Given the description of an element on the screen output the (x, y) to click on. 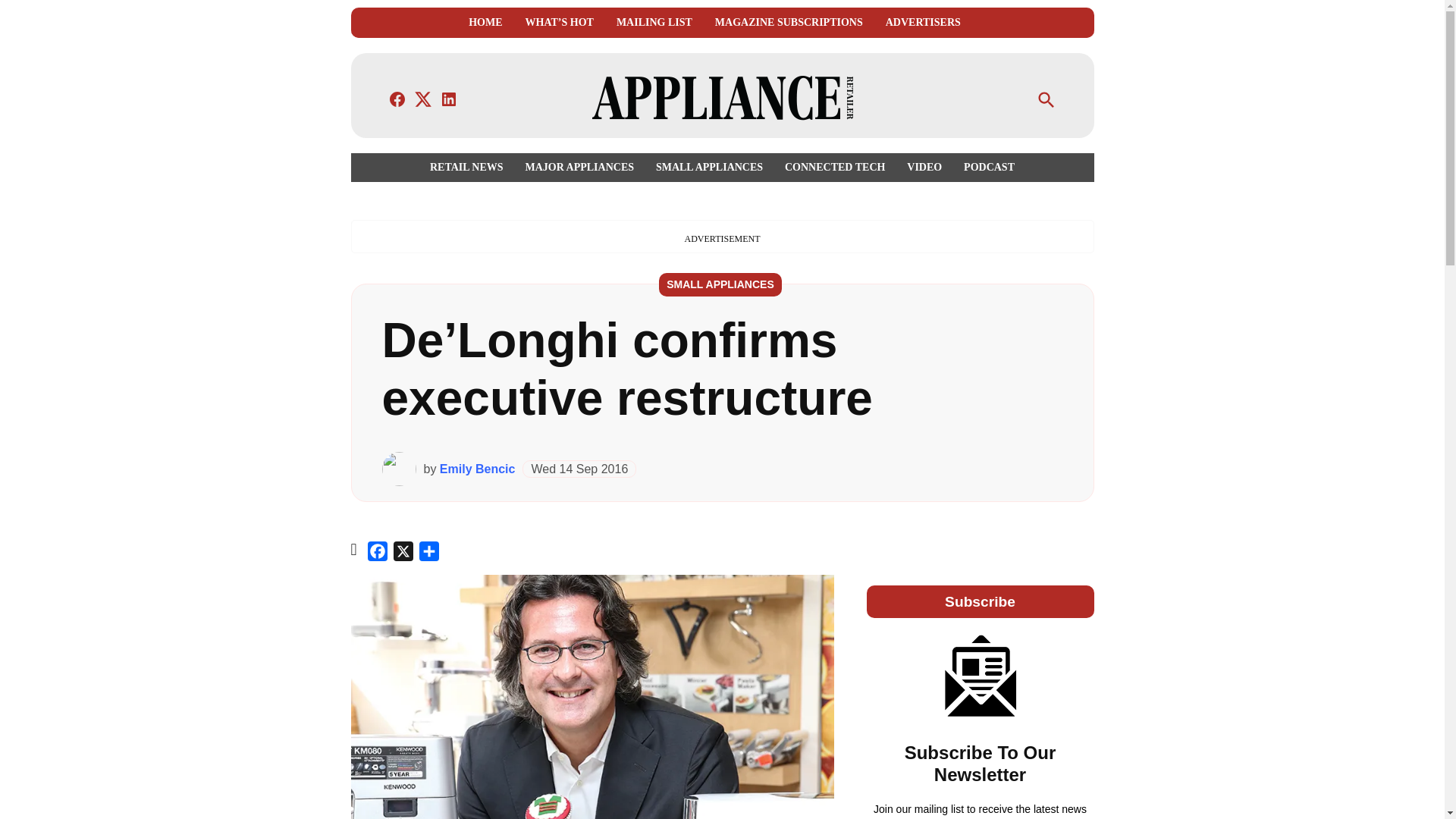
SMALL APPLIANCES (708, 167)
CONNECTED TECH (834, 167)
PODCAST (985, 167)
RETAIL NEWS (470, 167)
ADVERTISERS (922, 22)
FACEBOOK (397, 99)
Emily Bencic (477, 468)
Facebook (377, 554)
MAJOR APPLIANCES (579, 167)
Facebook (377, 554)
X (403, 554)
TWITTER (422, 99)
MAILING LIST (653, 22)
HOME (484, 22)
